Given the description of an element on the screen output the (x, y) to click on. 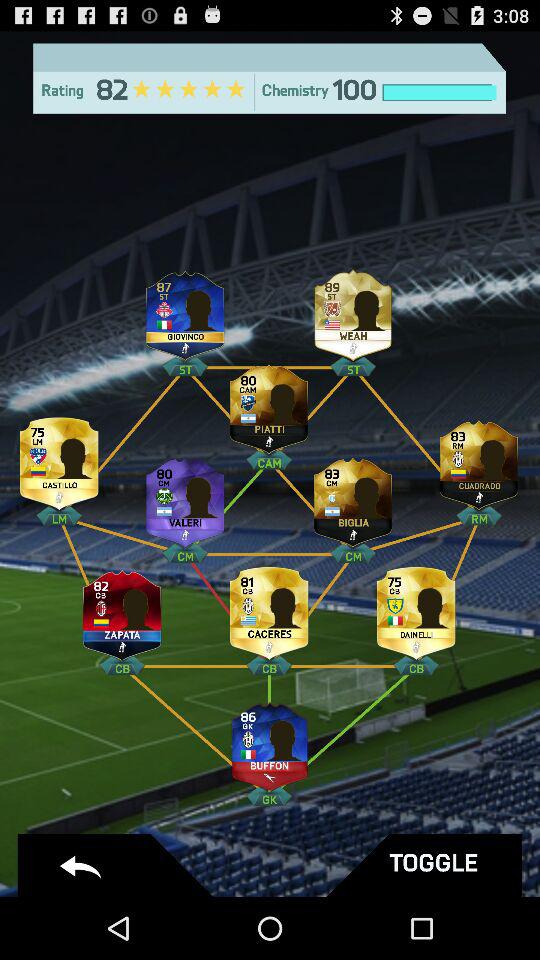
view this player (269, 740)
